Given the description of an element on the screen output the (x, y) to click on. 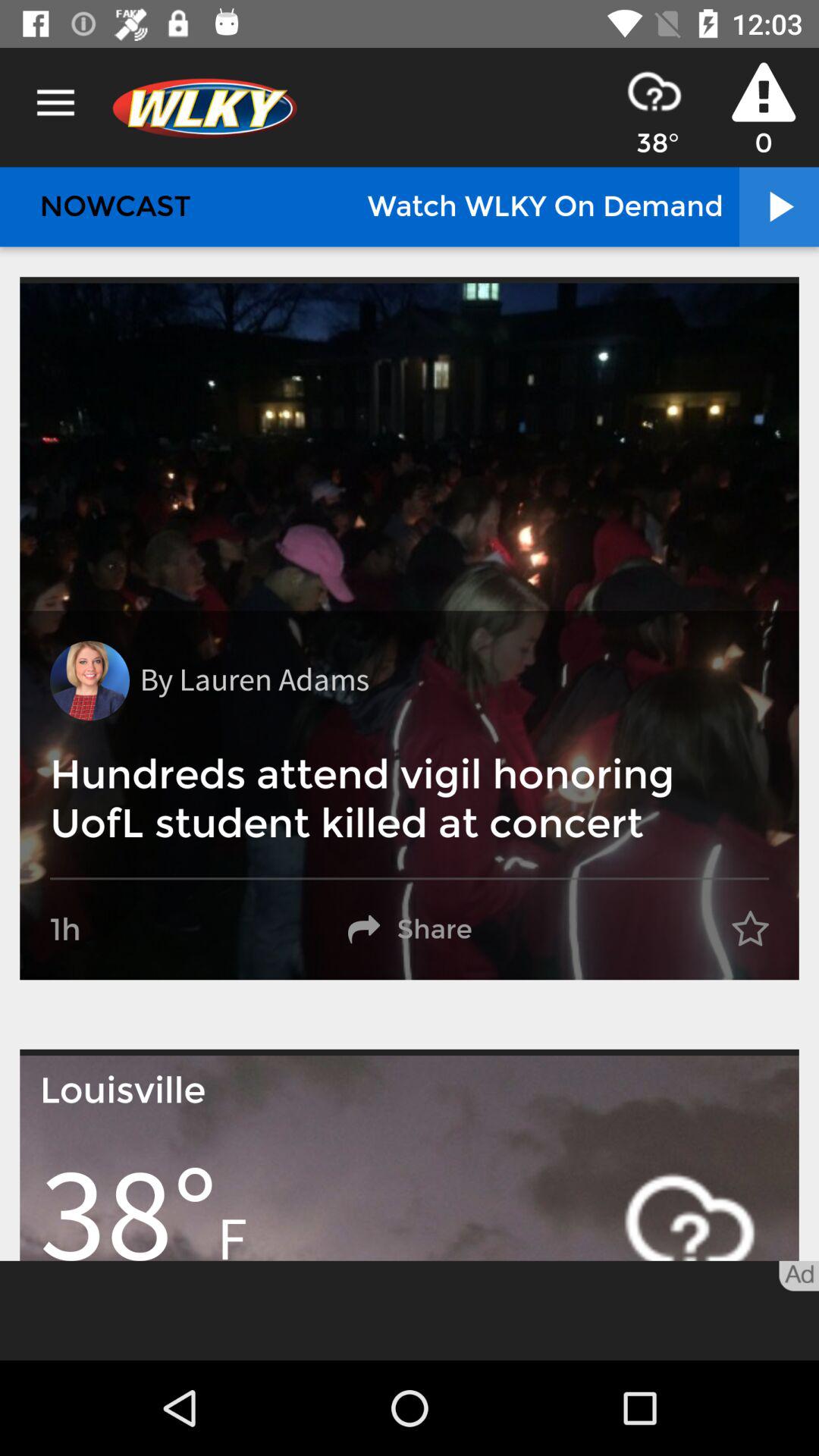
choose item to the right of the share item (750, 929)
